Given the description of an element on the screen output the (x, y) to click on. 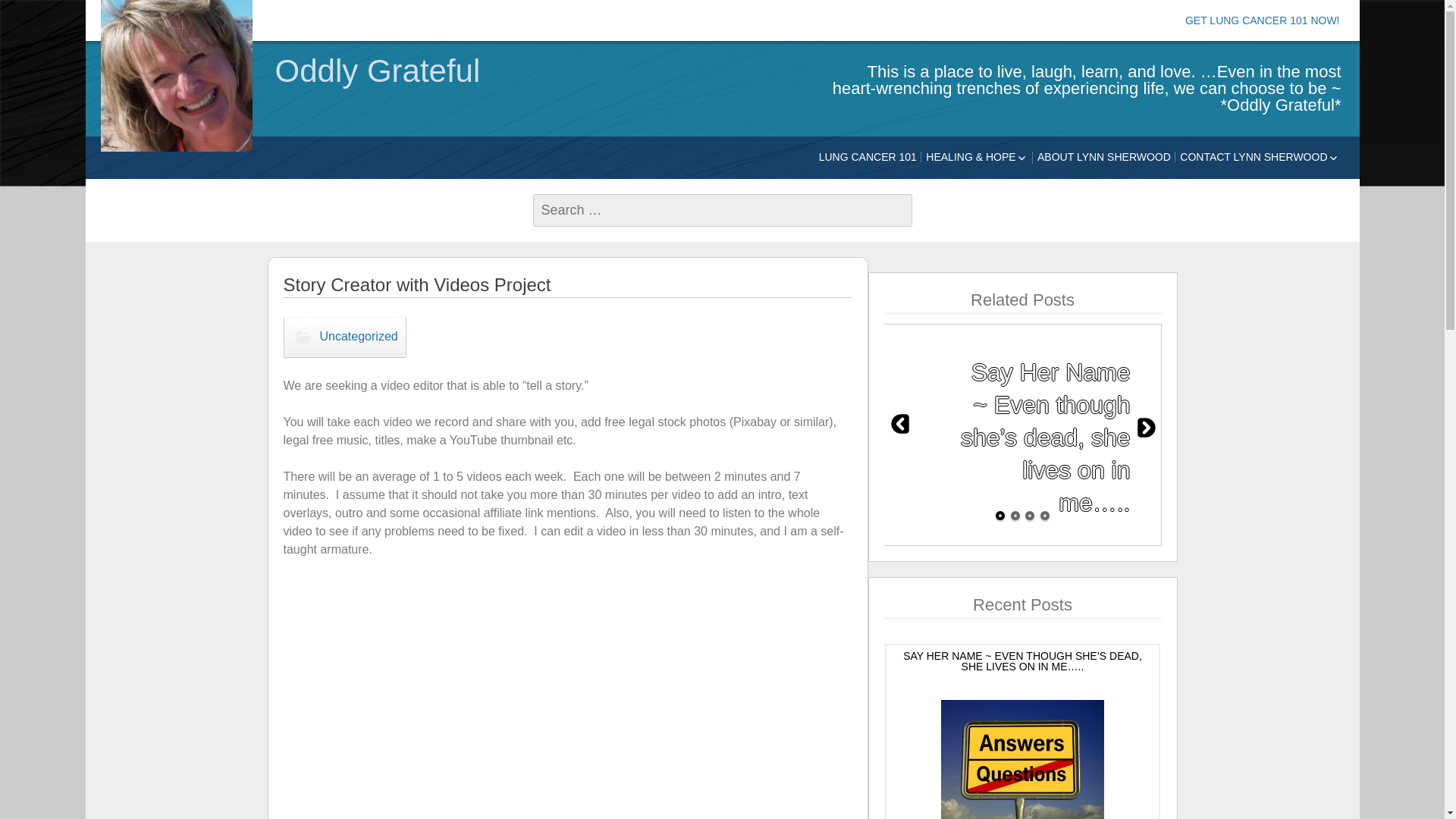
Oddly Grateful (175, 75)
LUNG CANCER KNOWLEDGE BASE (1009, 194)
GET LUNG CANCER 101 NOW! (1261, 20)
LUNG CANCER 101 (867, 156)
Uncategorized (344, 336)
CONTACT LYNN SHERWOOD (1258, 157)
HOME (1264, 189)
Search (38, 13)
ABOUT LYNN SHERWOOD (1103, 156)
Oddly Grateful (539, 70)
